Given the description of an element on the screen output the (x, y) to click on. 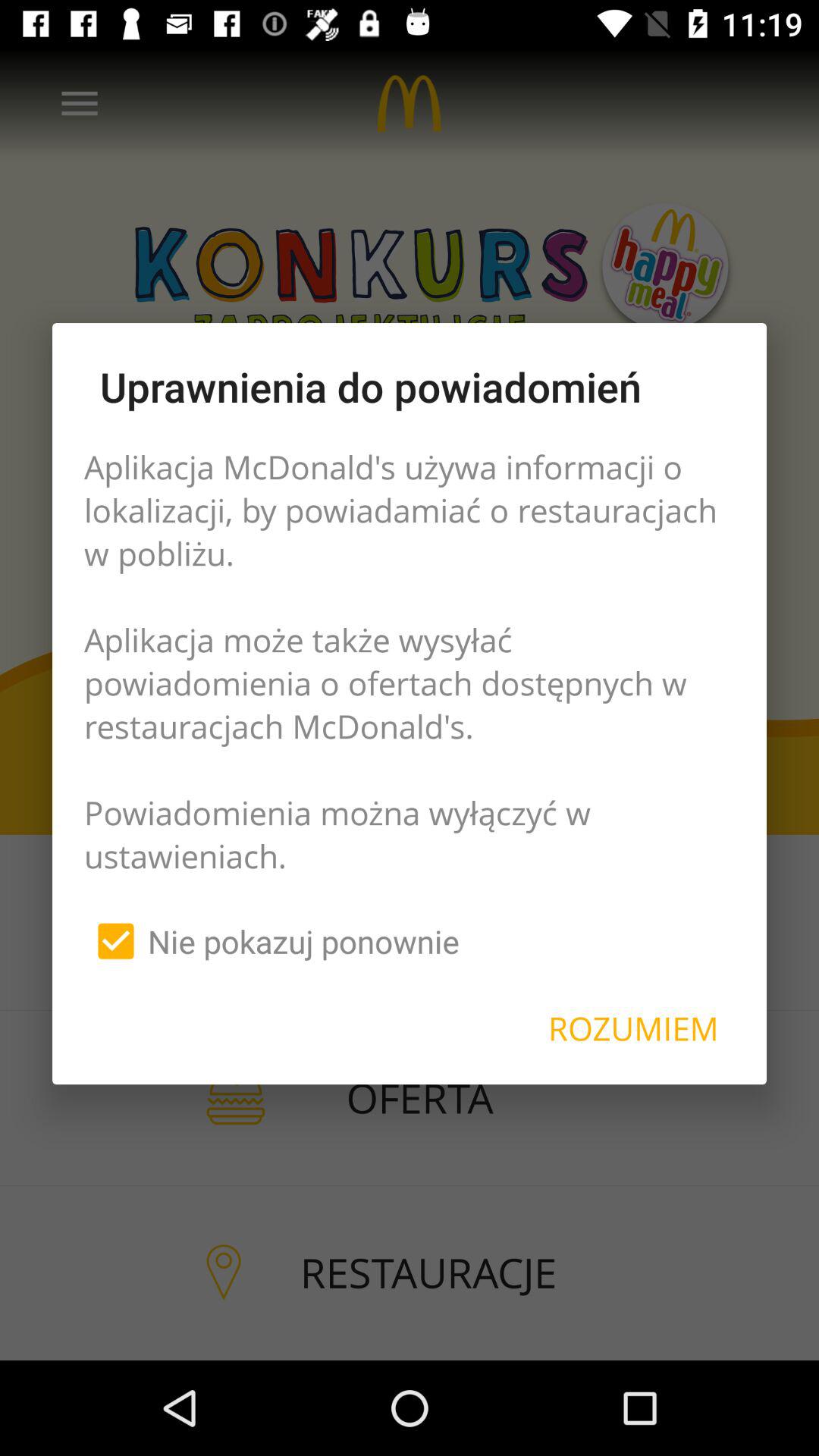
launch the icon to the left of rozumiem (271, 941)
